Given the description of an element on the screen output the (x, y) to click on. 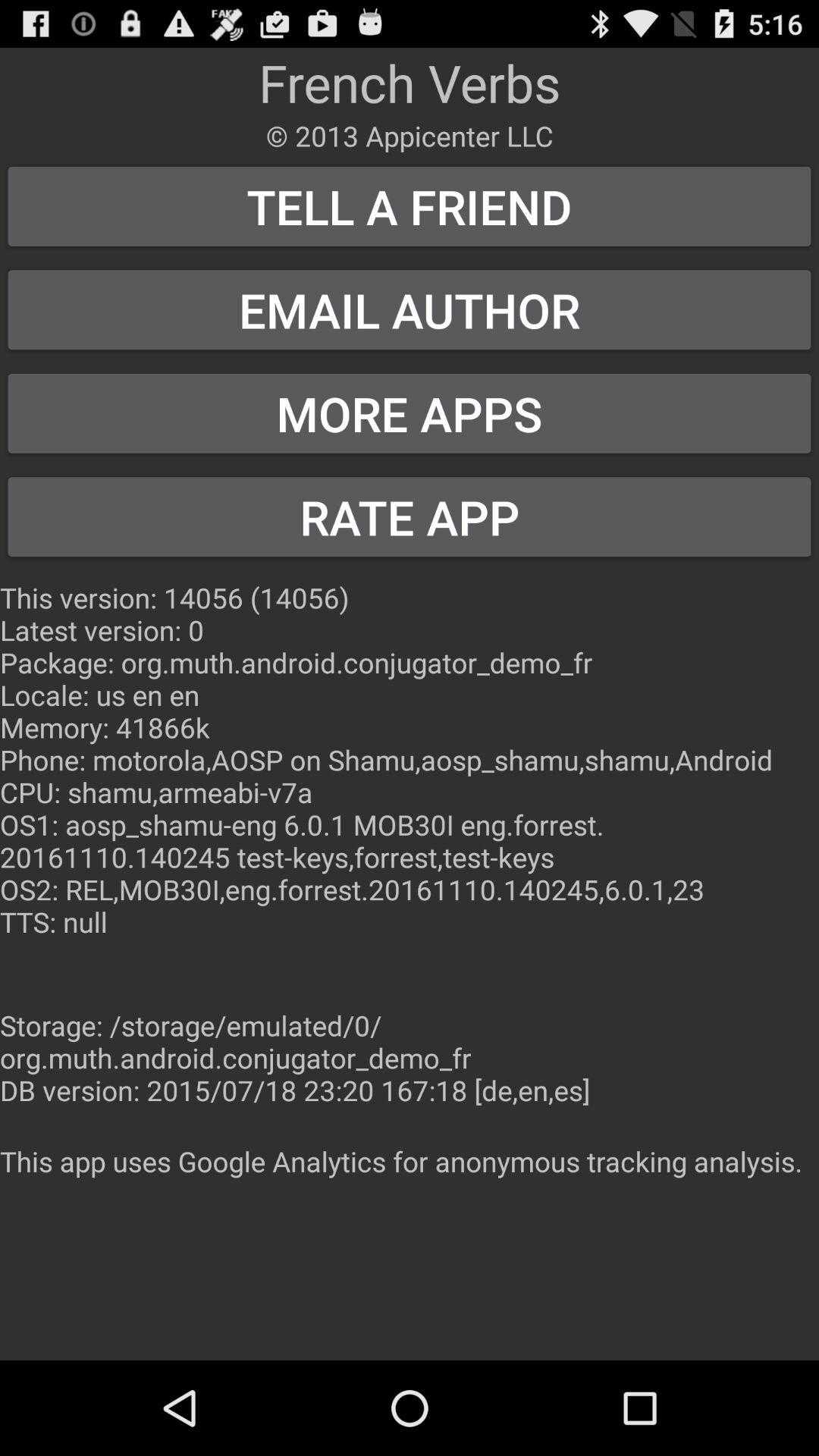
flip to the tell a friend item (409, 206)
